Given the description of an element on the screen output the (x, y) to click on. 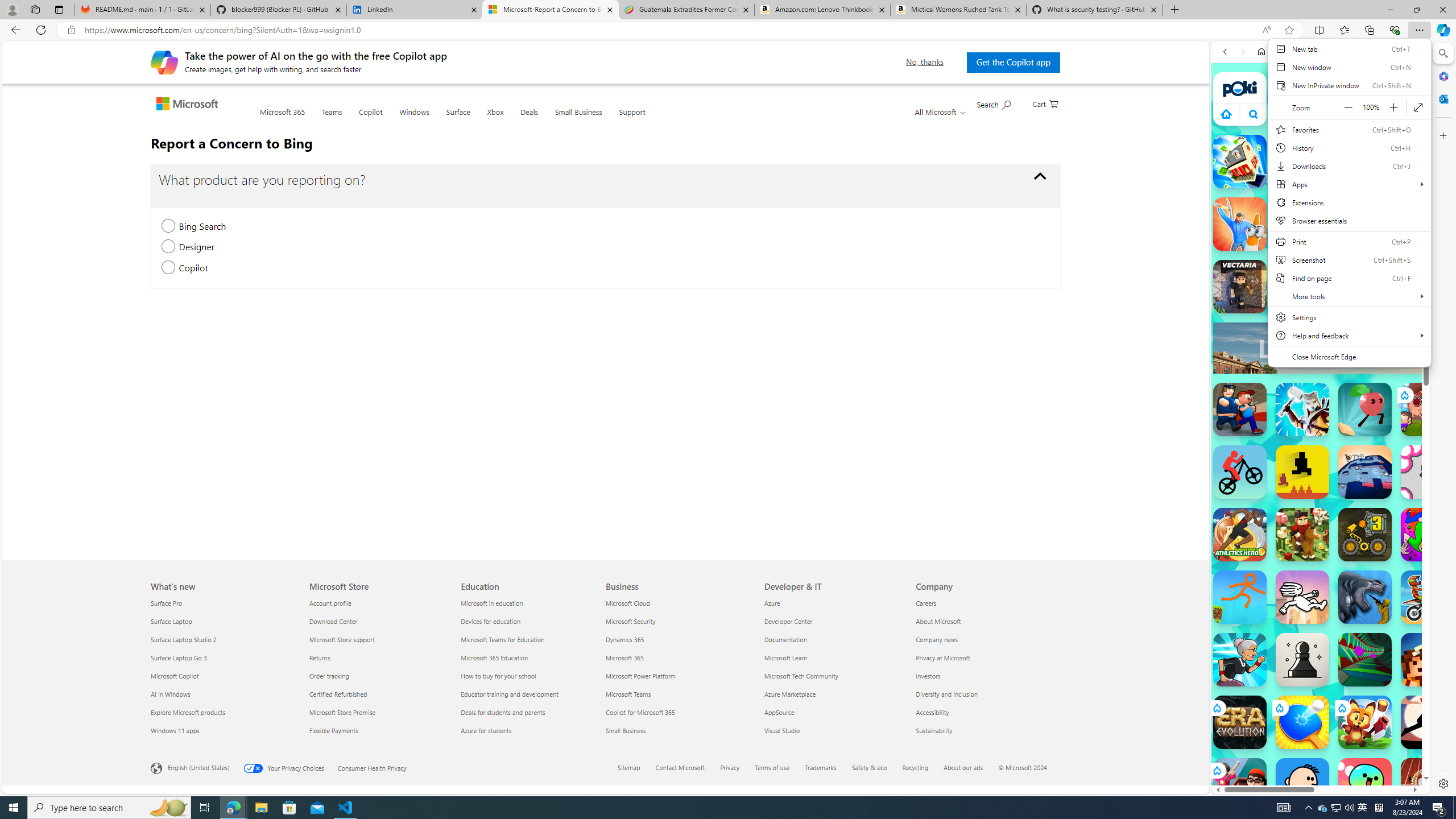
New window (1349, 67)
The Speed Ninja (1427, 722)
About our ads (962, 766)
Azure for students Education (486, 729)
AI in Windows (223, 693)
Company news Company (936, 638)
Azure for students (529, 730)
Your Privacy Choices Opt-Out Icon (255, 768)
Hills of Steel (1264, 580)
Show More Games for Girls (1390, 407)
Accessibility Company (932, 711)
Big Tower Tiny Square Big Tower Tiny Square (1364, 471)
Combat Reloaded Combat Reloaded poki.com (1349, 548)
Sharkosaurus Rampage (1364, 597)
